Given the description of an element on the screen output the (x, y) to click on. 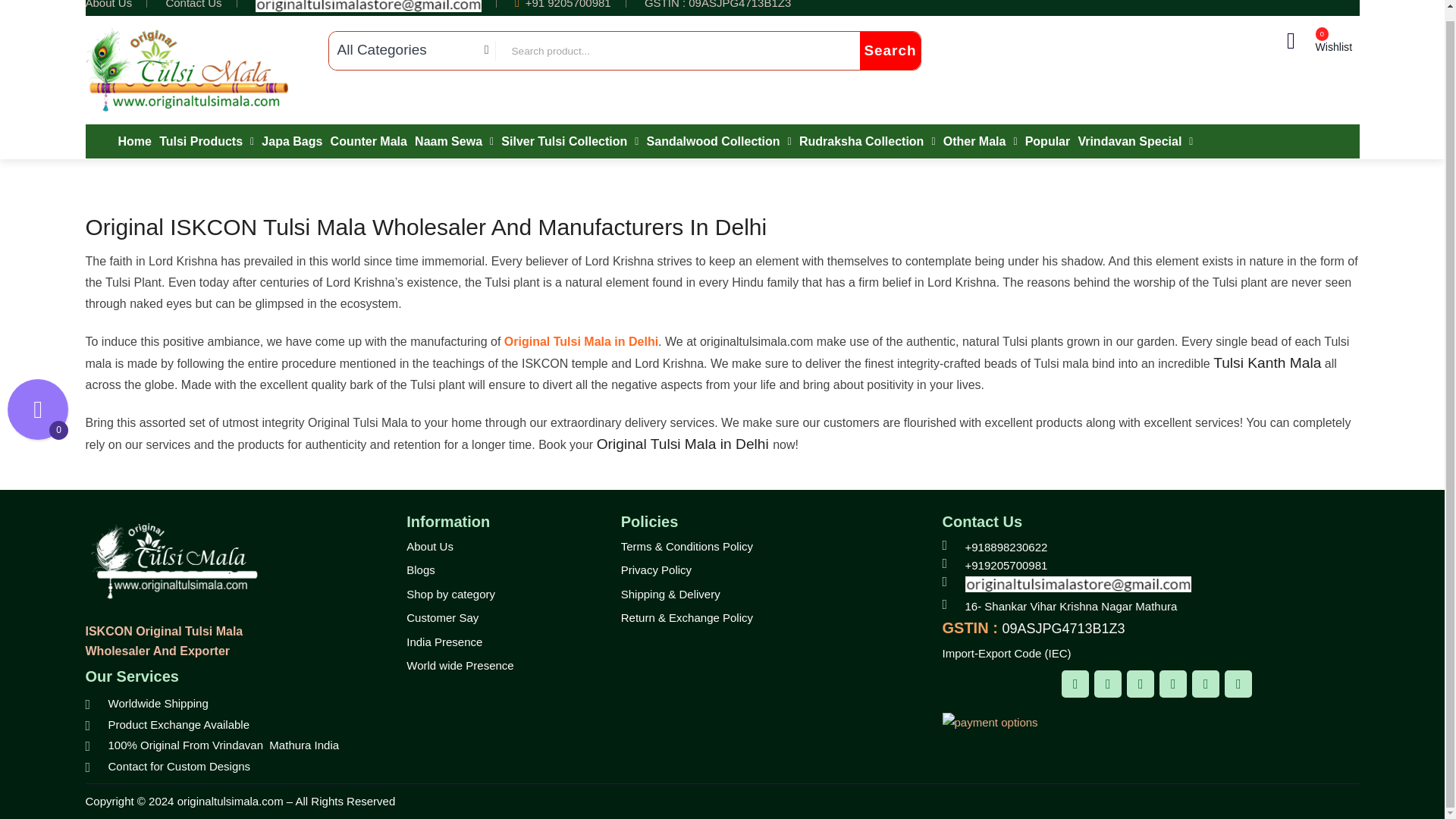
originaltulsimala.com (186, 69)
Linkedin (1206, 683)
About Us (108, 4)
Twitter (1107, 683)
Youtube (1238, 683)
originaltulsimala.com (170, 561)
Instagram (1140, 683)
Pinterest (1172, 683)
Contact Us (193, 4)
Facebook (1075, 683)
